Given the description of an element on the screen output the (x, y) to click on. 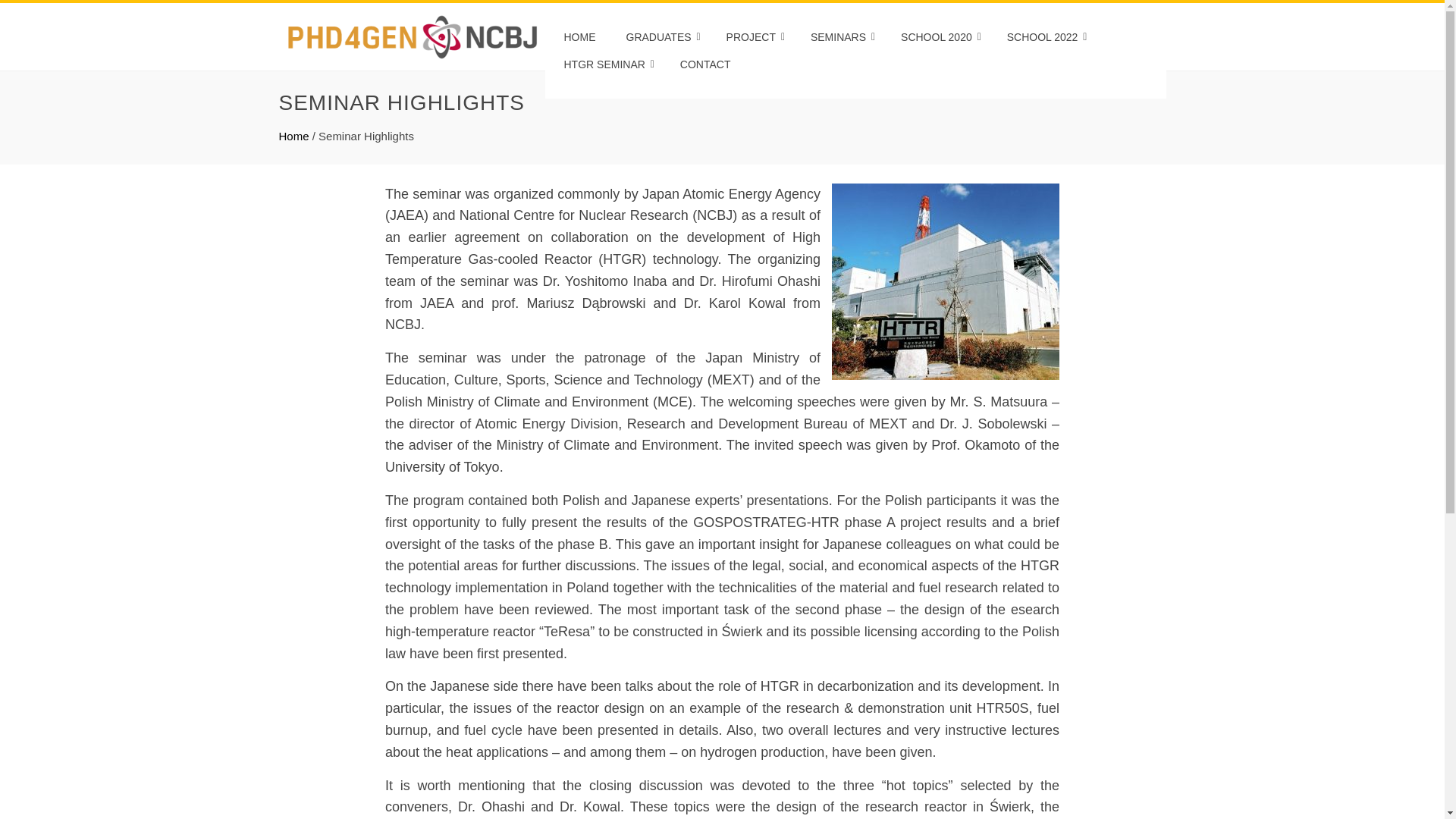
GRADUATES (660, 36)
HOME (579, 36)
SEMINARS (840, 36)
SCHOOL 2022 (1044, 36)
PROJECT (753, 36)
SCHOOL 2020 (938, 36)
